Given the description of an element on the screen output the (x, y) to click on. 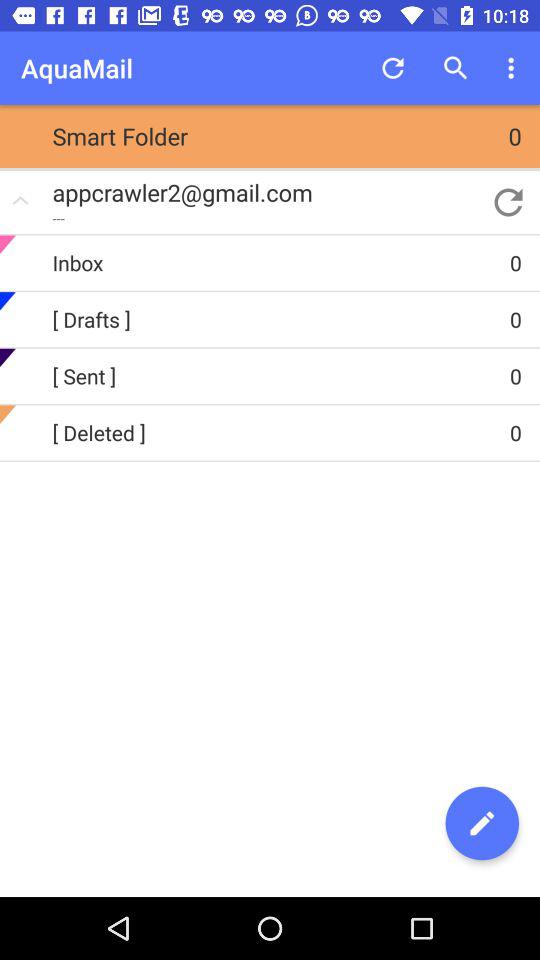
open the app to the right of appcrawler2@gmail.com (508, 202)
